Given the description of an element on the screen output the (x, y) to click on. 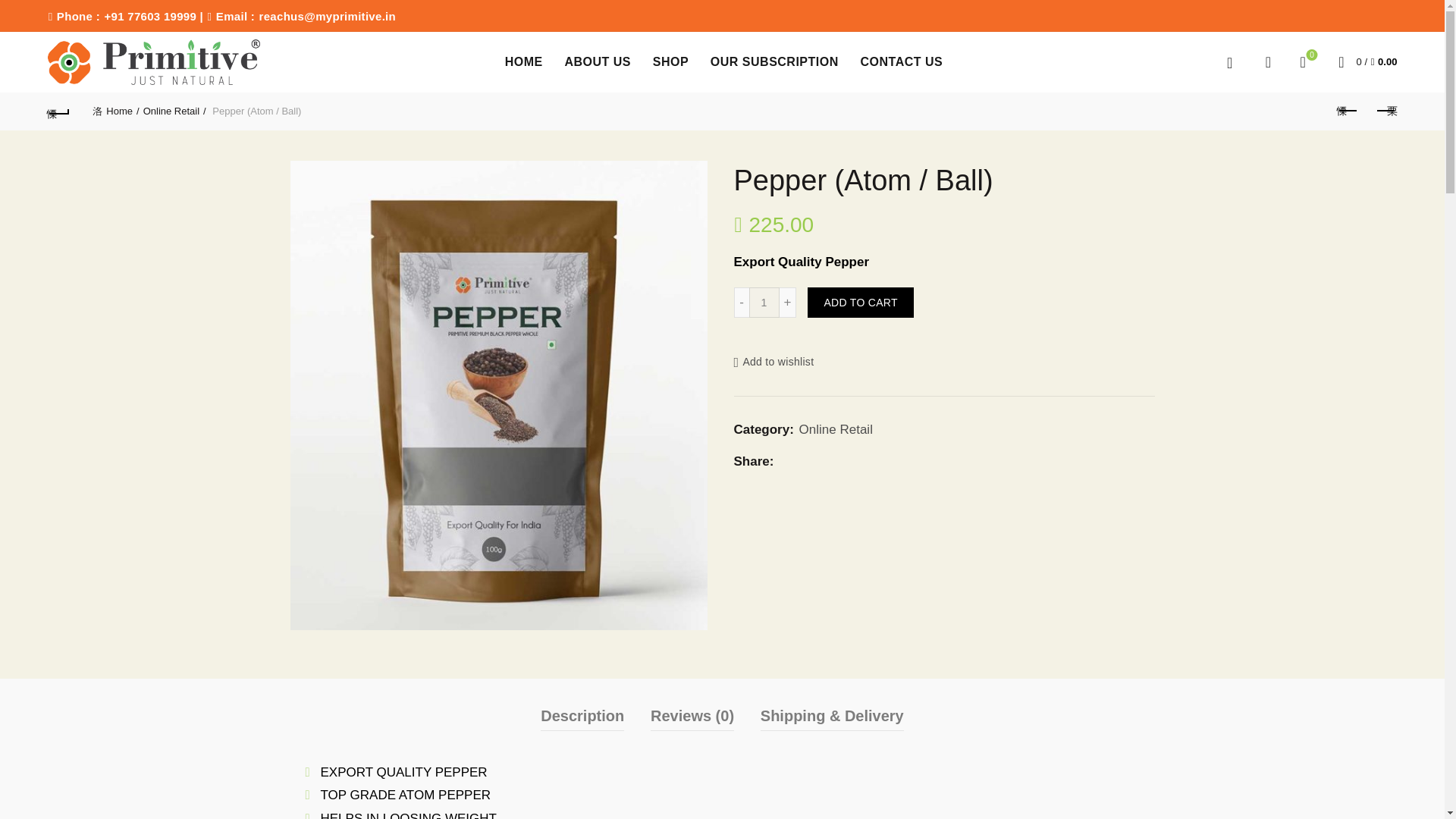
Add to wishlist (773, 362)
ADD TO CART (860, 302)
Next product (1386, 111)
CONTACT US (901, 62)
Previous product (1347, 111)
Home (1302, 61)
1 (115, 111)
ABOUT US (763, 302)
Online Retail (597, 62)
